Given the description of an element on the screen output the (x, y) to click on. 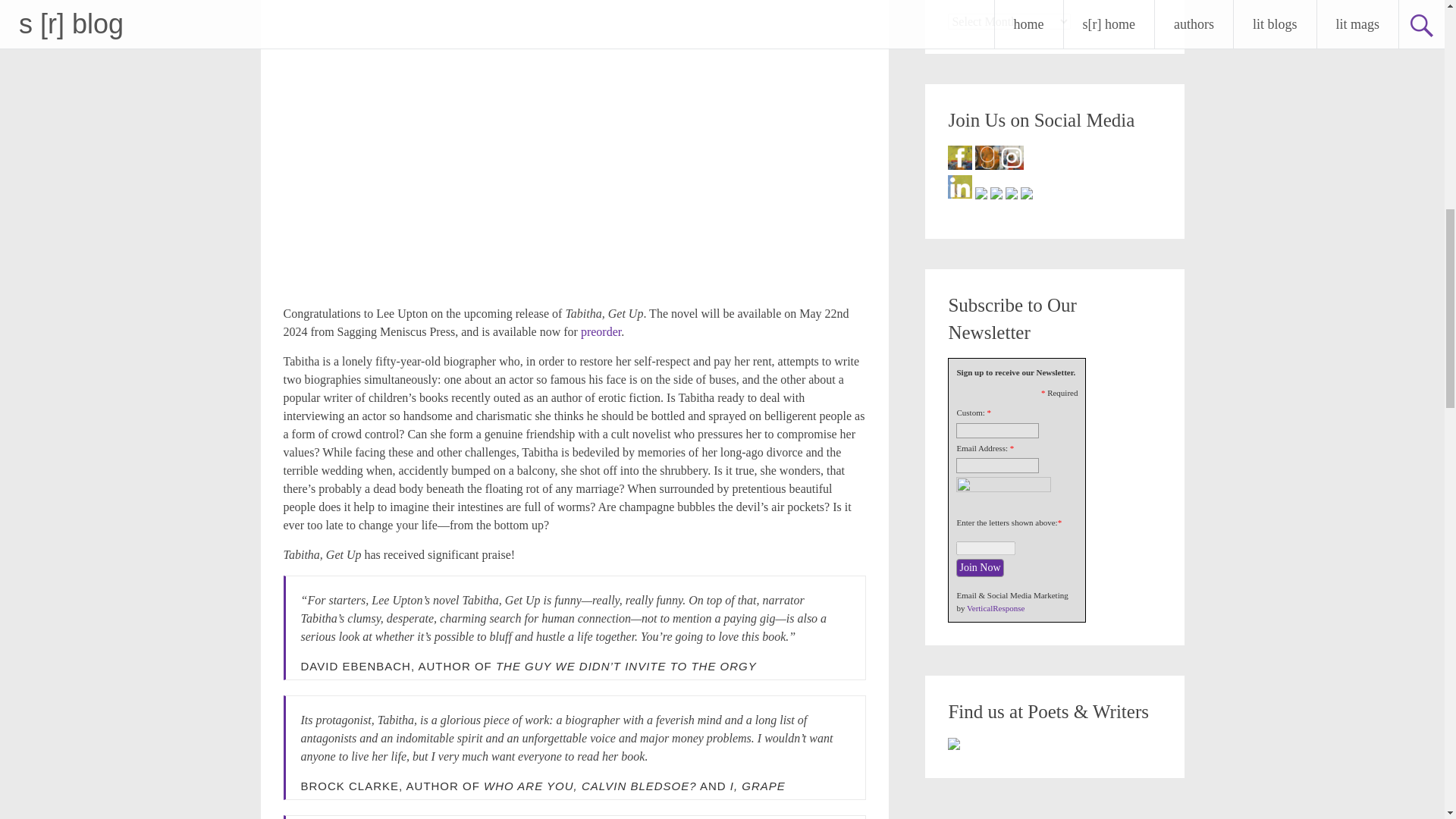
Join Now (979, 566)
preorder (600, 331)
Superstition Review on Instagram (1010, 157)
